Given the description of an element on the screen output the (x, y) to click on. 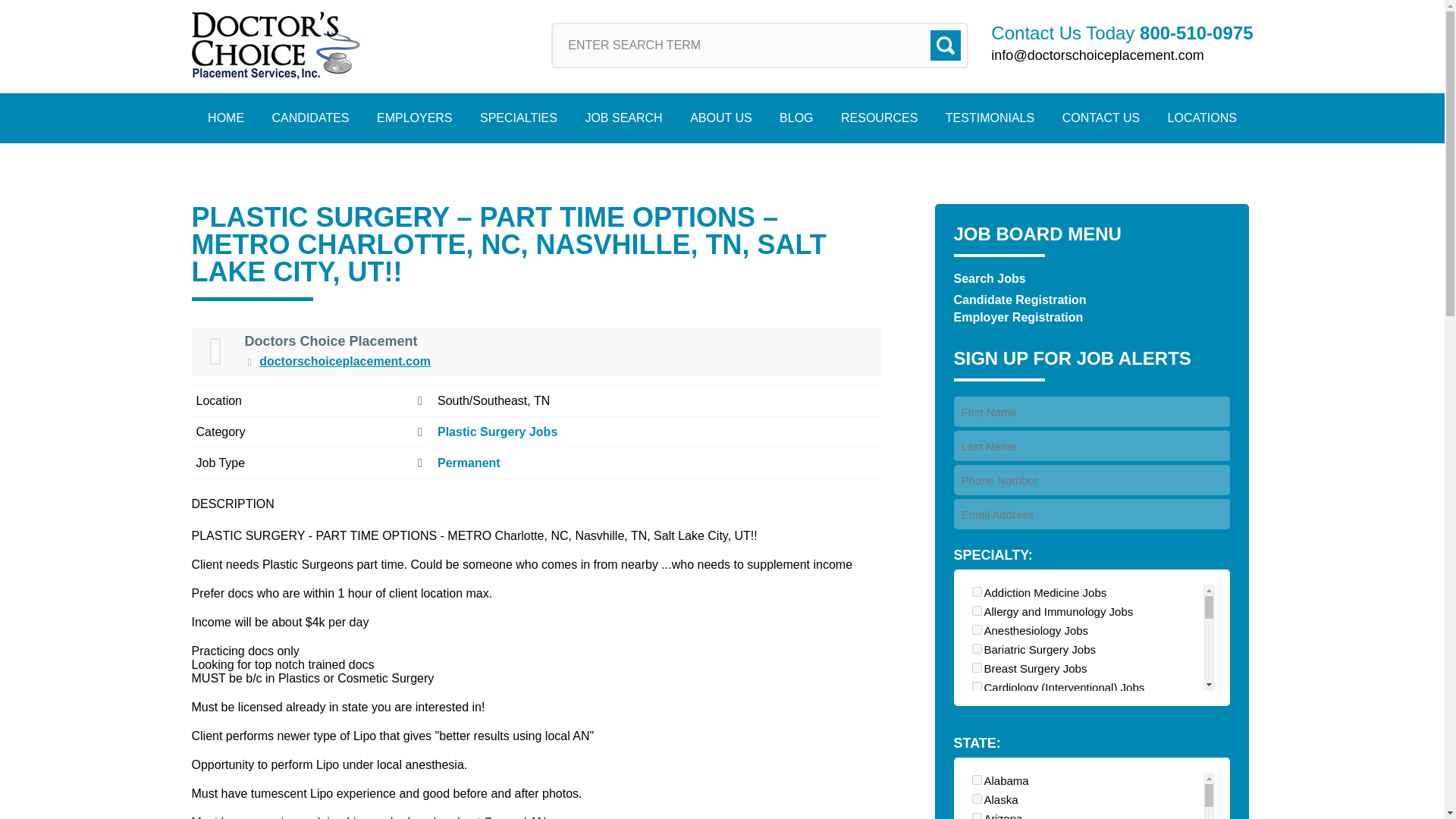
SPECIALTIES (518, 118)
77 (976, 592)
70 (976, 610)
74 (976, 781)
Doctors Choice Placement (274, 45)
79 (976, 762)
Enter Search Term (759, 44)
21 (976, 648)
Enter Search Term (759, 44)
71 (976, 705)
65 (976, 816)
72 (976, 724)
22 (976, 686)
29 (976, 667)
53 (976, 800)
